Given the description of an element on the screen output the (x, y) to click on. 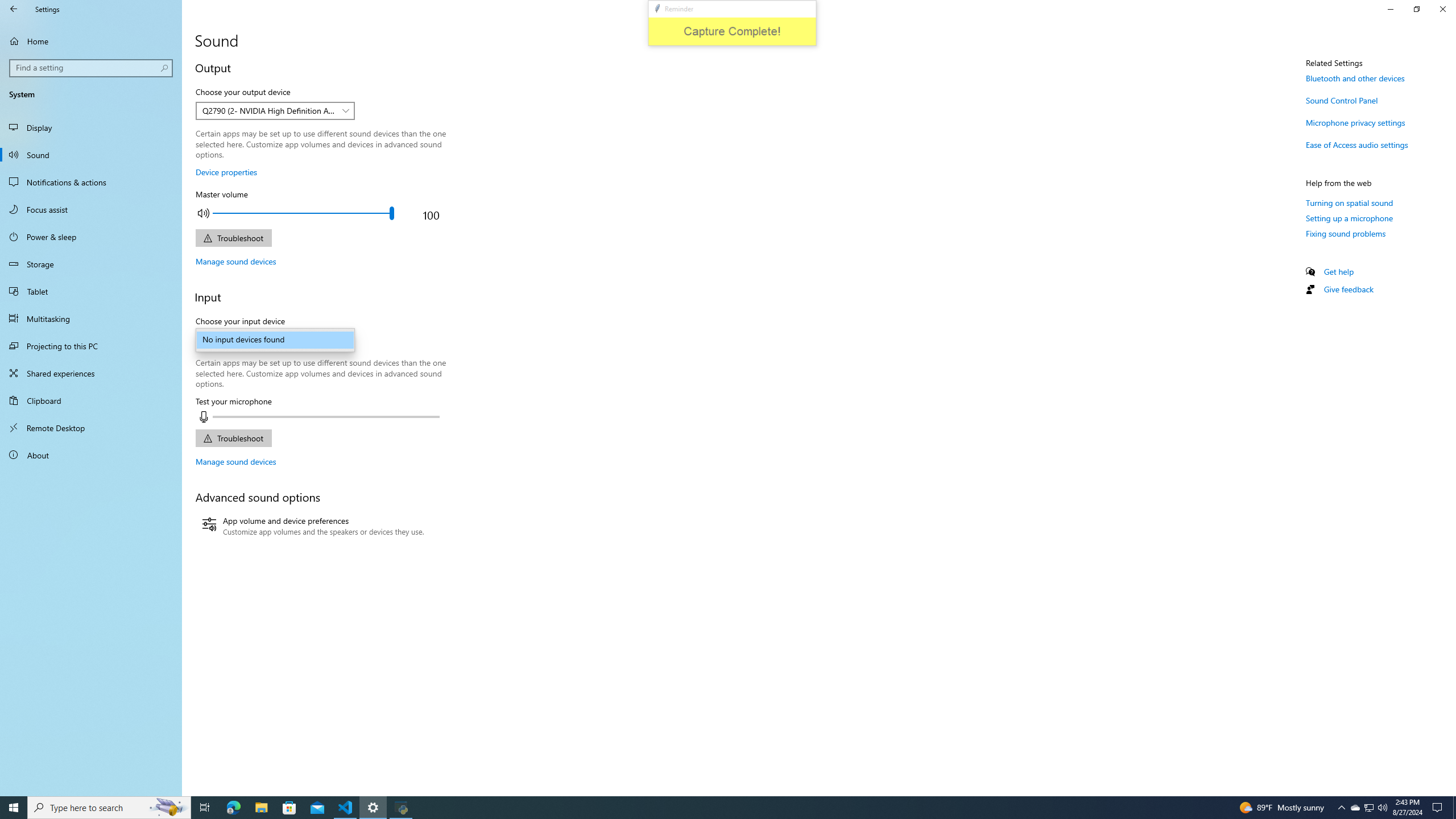
Turning on spatial sound (1349, 202)
Microphone privacy settings (1355, 122)
Fixing sound problems (1346, 233)
Choose your input device (275, 339)
Sound Control Panel (1341, 100)
Setting up a microphone (1349, 217)
Manage sound devices (235, 461)
Clipboard (91, 400)
